Given the description of an element on the screen output the (x, y) to click on. 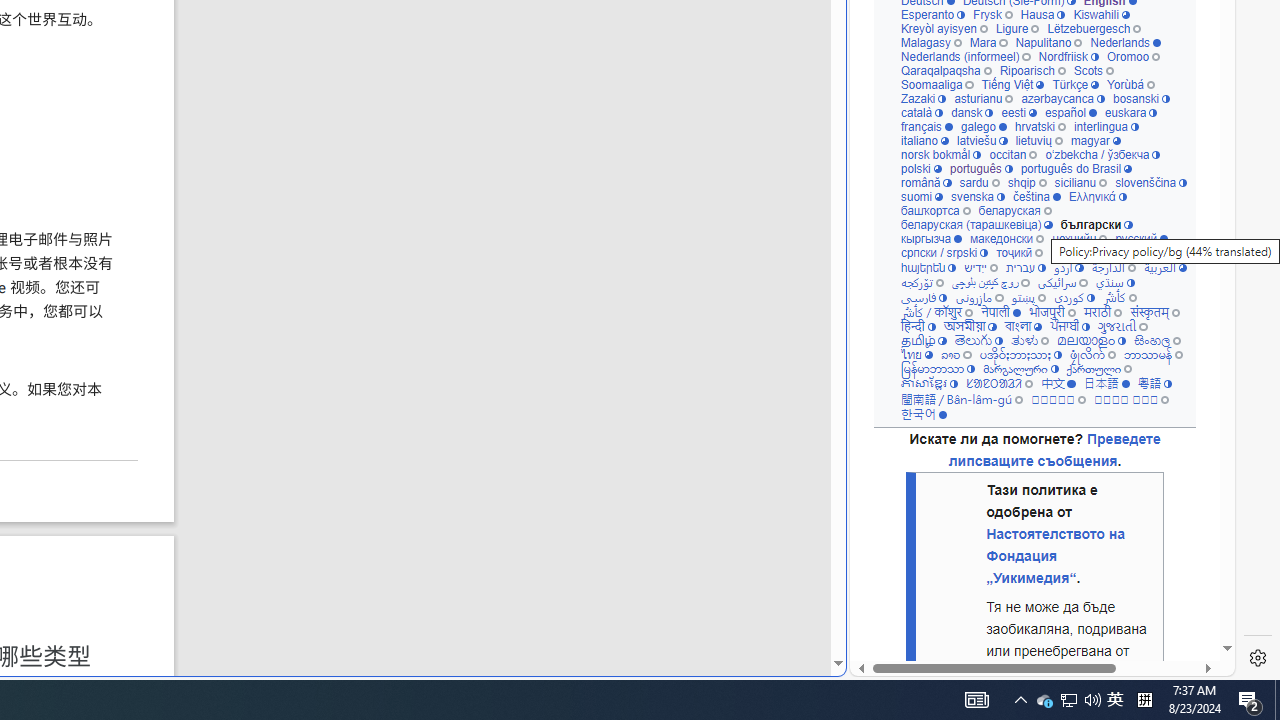
Napulitano (1048, 42)
Mara (988, 42)
